Given the description of an element on the screen output the (x, y) to click on. 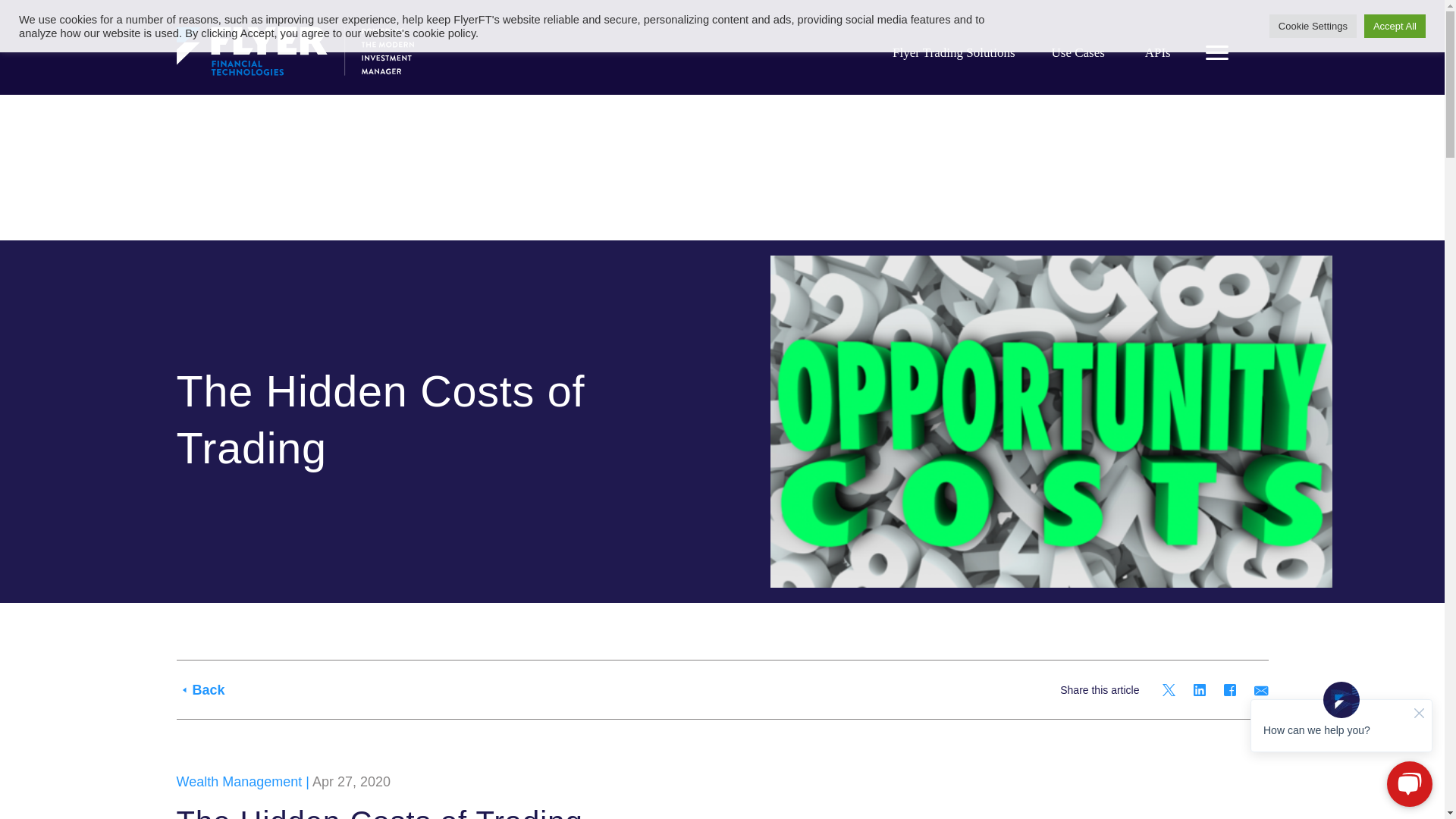
Use Cases (1078, 52)
APIs (1157, 52)
Flyer Trading Solutions (953, 52)
Chat Widget (1341, 744)
